Given the description of an element on the screen output the (x, y) to click on. 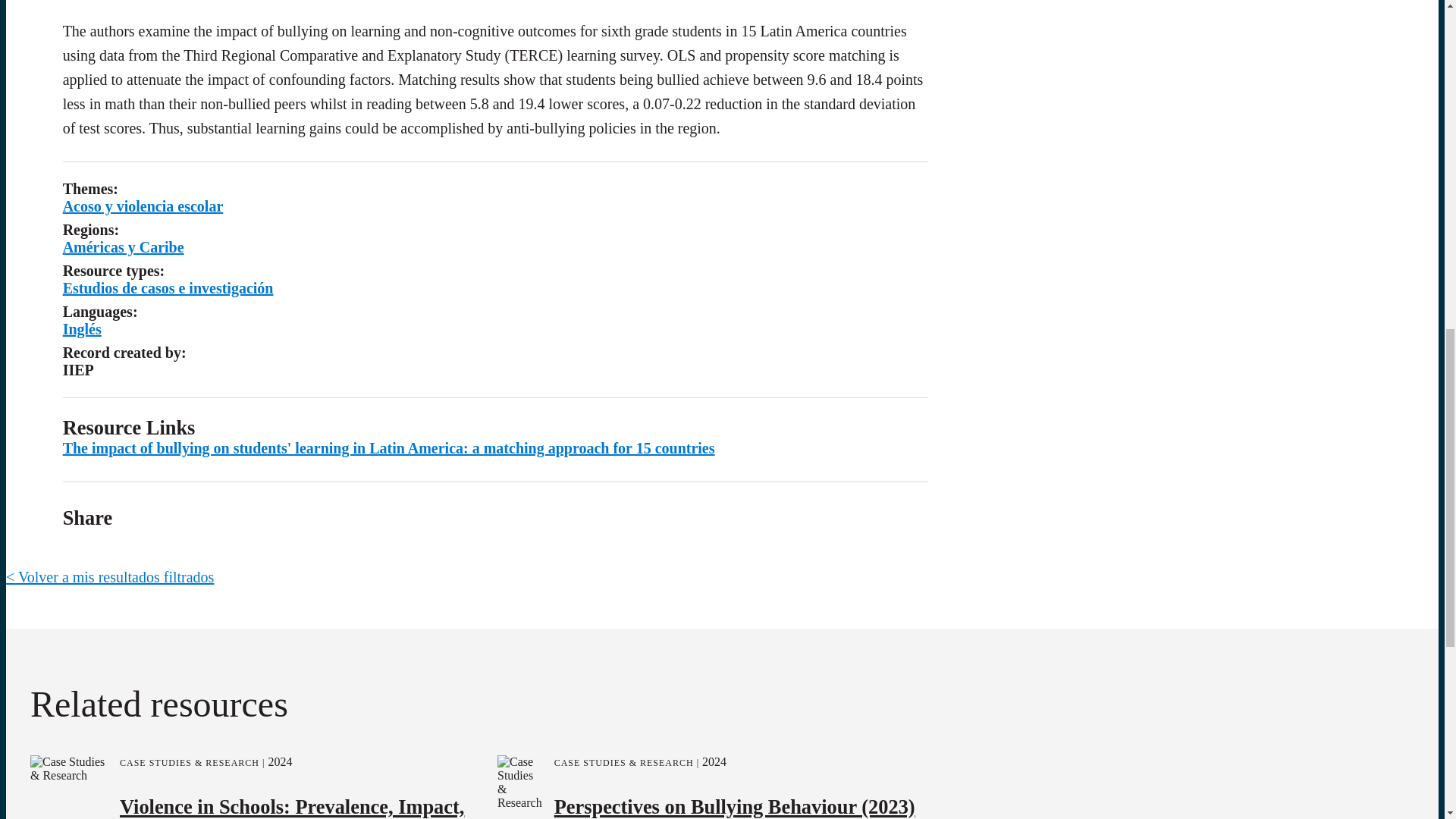
Acoso y violencia escolar (205, 116)
Violence in Schools: Prevalence, Impact, and Interventions (291, 644)
